Given the description of an element on the screen output the (x, y) to click on. 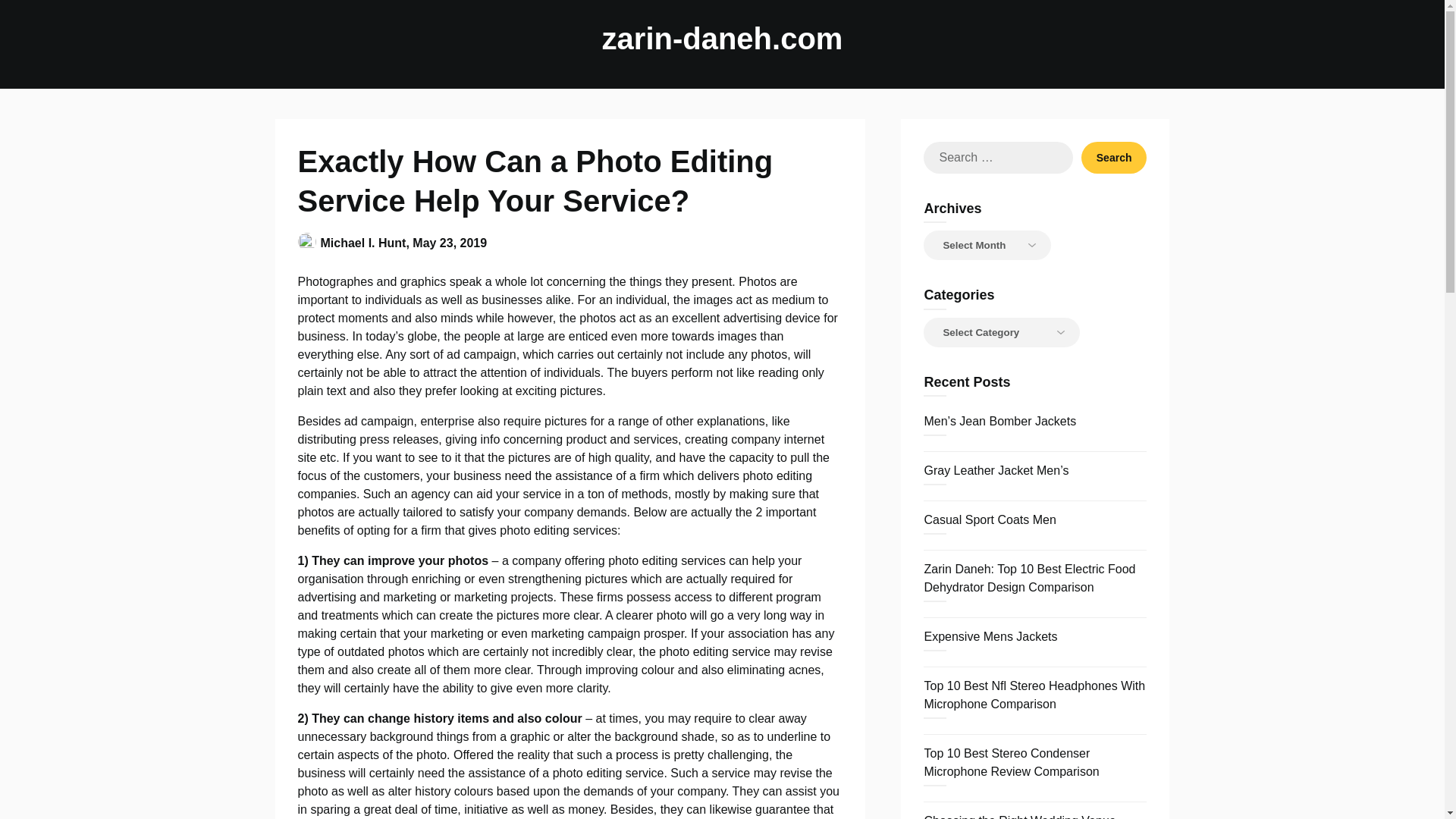
Search (1114, 157)
Expensive Mens Jackets (990, 635)
Top 10 Best Nfl Stereo Headphones With Microphone Comparison (1033, 694)
Top 10 Best Stereo Condenser Microphone Review Comparison (1011, 762)
Casual Sport Coats Men (989, 519)
zarin-daneh.com (722, 38)
Choosing the Right Wedding Venue (1019, 816)
May 23, 2019 (449, 242)
Search (1114, 157)
Search (1114, 157)
